Given the description of an element on the screen output the (x, y) to click on. 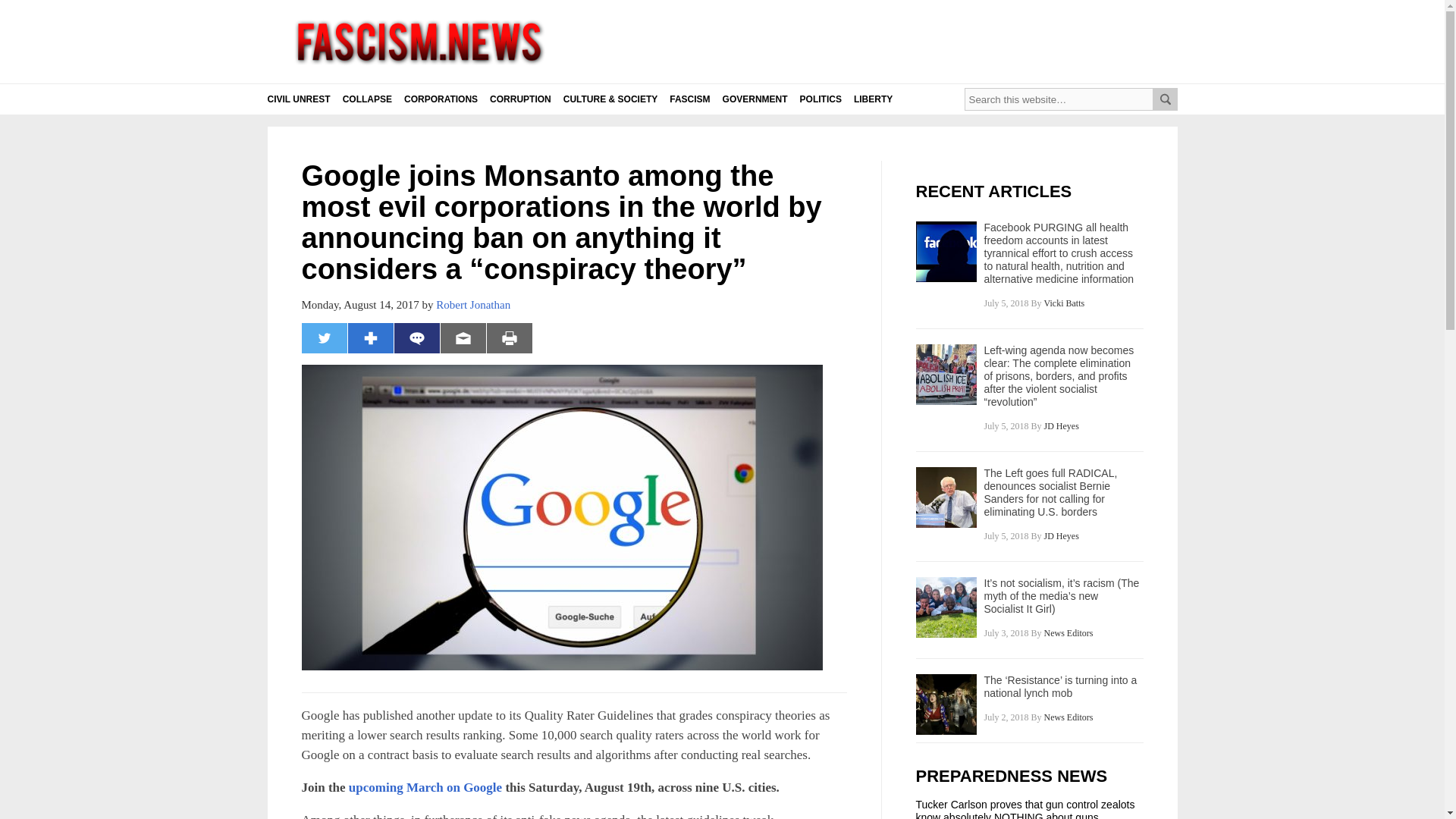
CORPORATIONS (440, 99)
Posts by Robert Jonathan (473, 304)
CORRUPTION (520, 99)
upcoming March on Google (425, 787)
Print This (509, 337)
POLITICS (820, 99)
Email This (462, 337)
Read Comments (417, 337)
Search (1164, 98)
Robert Jonathan (473, 304)
LIBERTY (872, 99)
Share on Twitter (324, 337)
CIVIL UNREST (298, 99)
GOVERNMENT (754, 99)
